Given the description of an element on the screen output the (x, y) to click on. 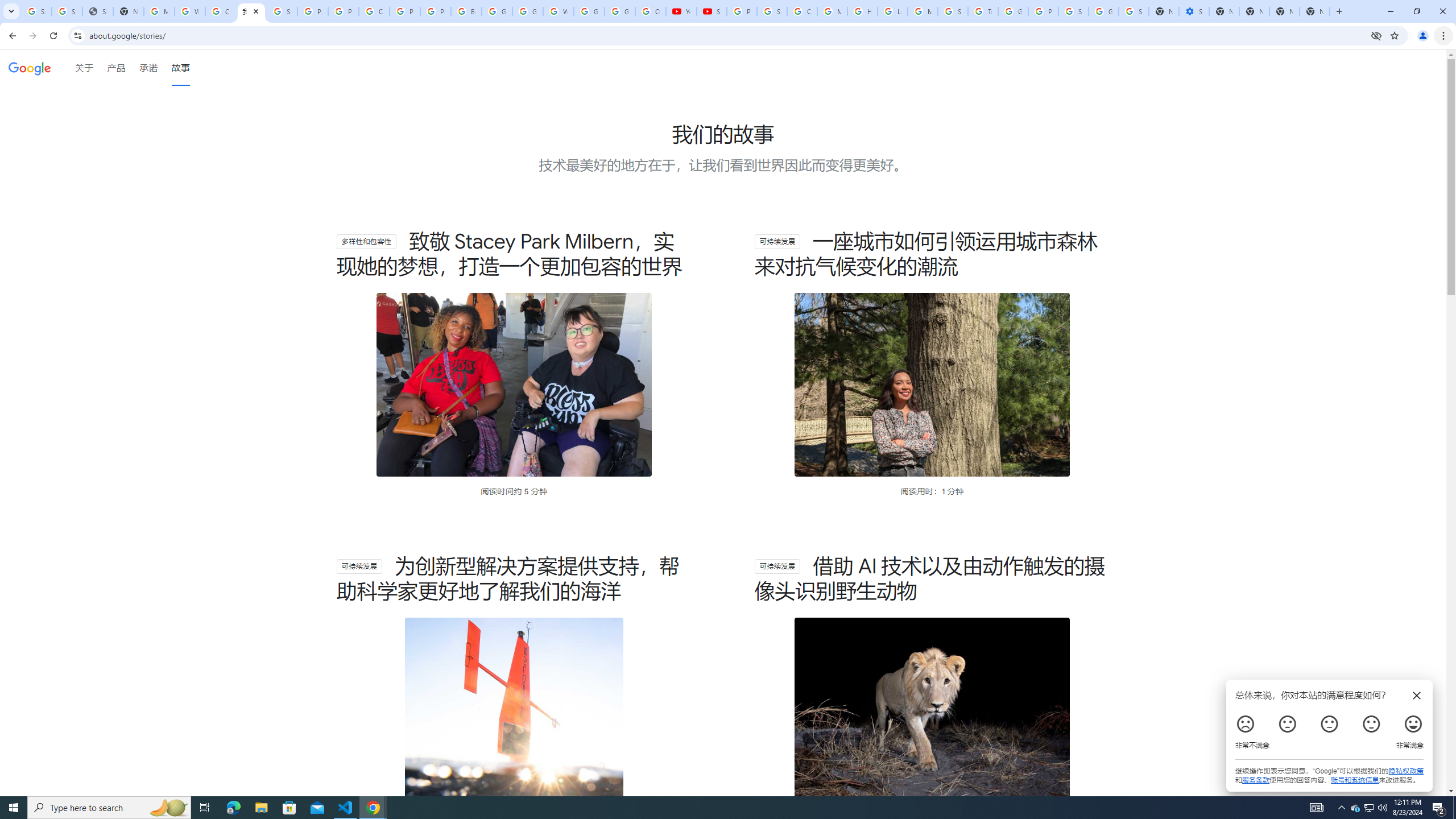
Sign in - Google Accounts (1072, 11)
Sign in - Google Accounts (66, 11)
Subscriptions - YouTube (711, 11)
Google Ads - Sign in (1012, 11)
